Given the description of an element on the screen output the (x, y) to click on. 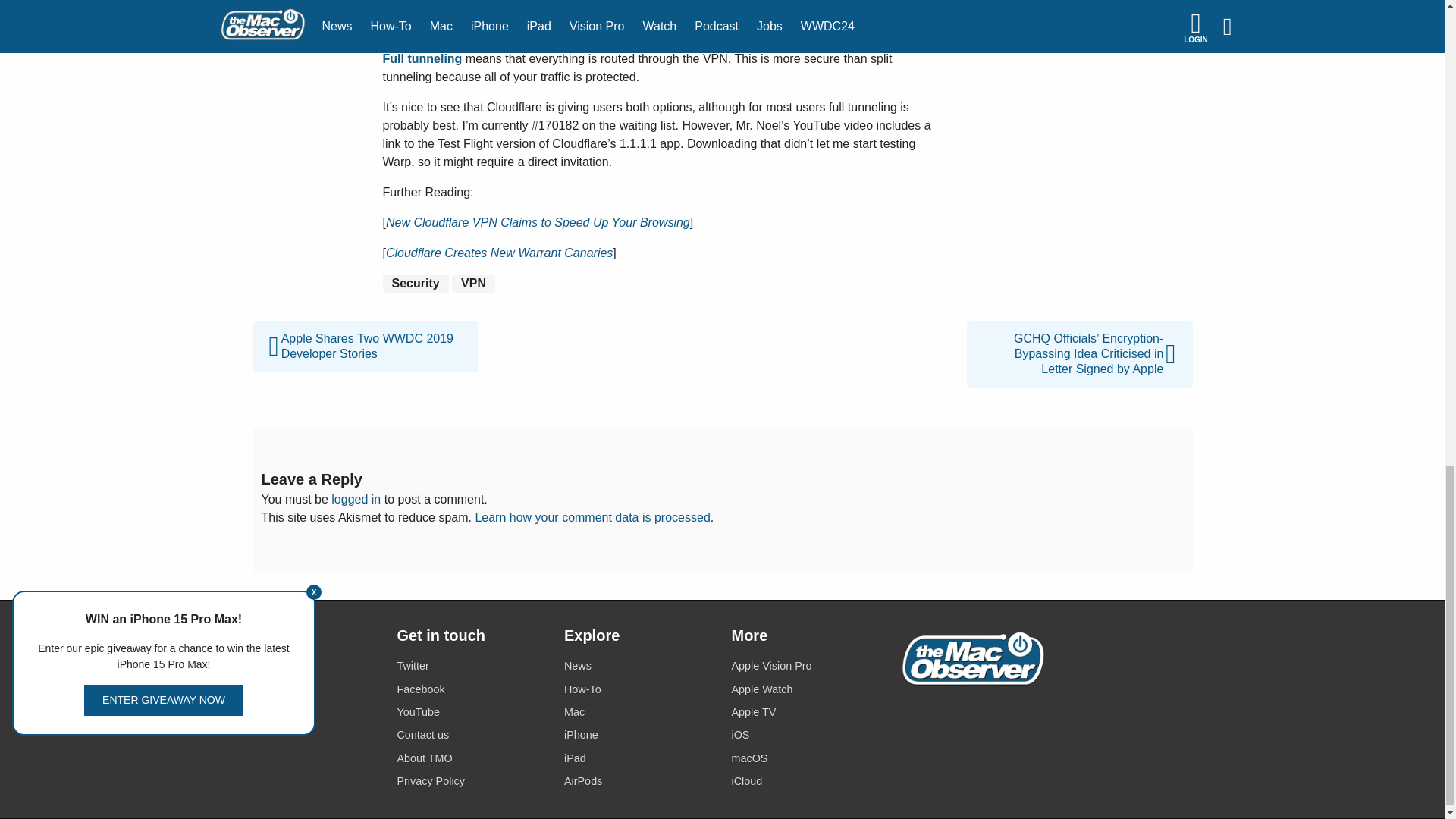
iPhone (638, 734)
Cloudflare Creates New Warrant Canaries (498, 252)
Security (414, 283)
New Cloudflare VPN Claims to Speed Up Your Browsing (537, 222)
Privacy Policy (471, 781)
About TMO (471, 758)
Twitter (471, 666)
Contact us (471, 734)
Facebook (471, 689)
Apple Vision Pro (805, 666)
Apple Shares Two WWDC 2019 Developer Stories (364, 328)
How-To (638, 689)
AirPods (638, 781)
iPad (638, 758)
Learn how your comment data is processed (592, 517)
